Given the description of an element on the screen output the (x, y) to click on. 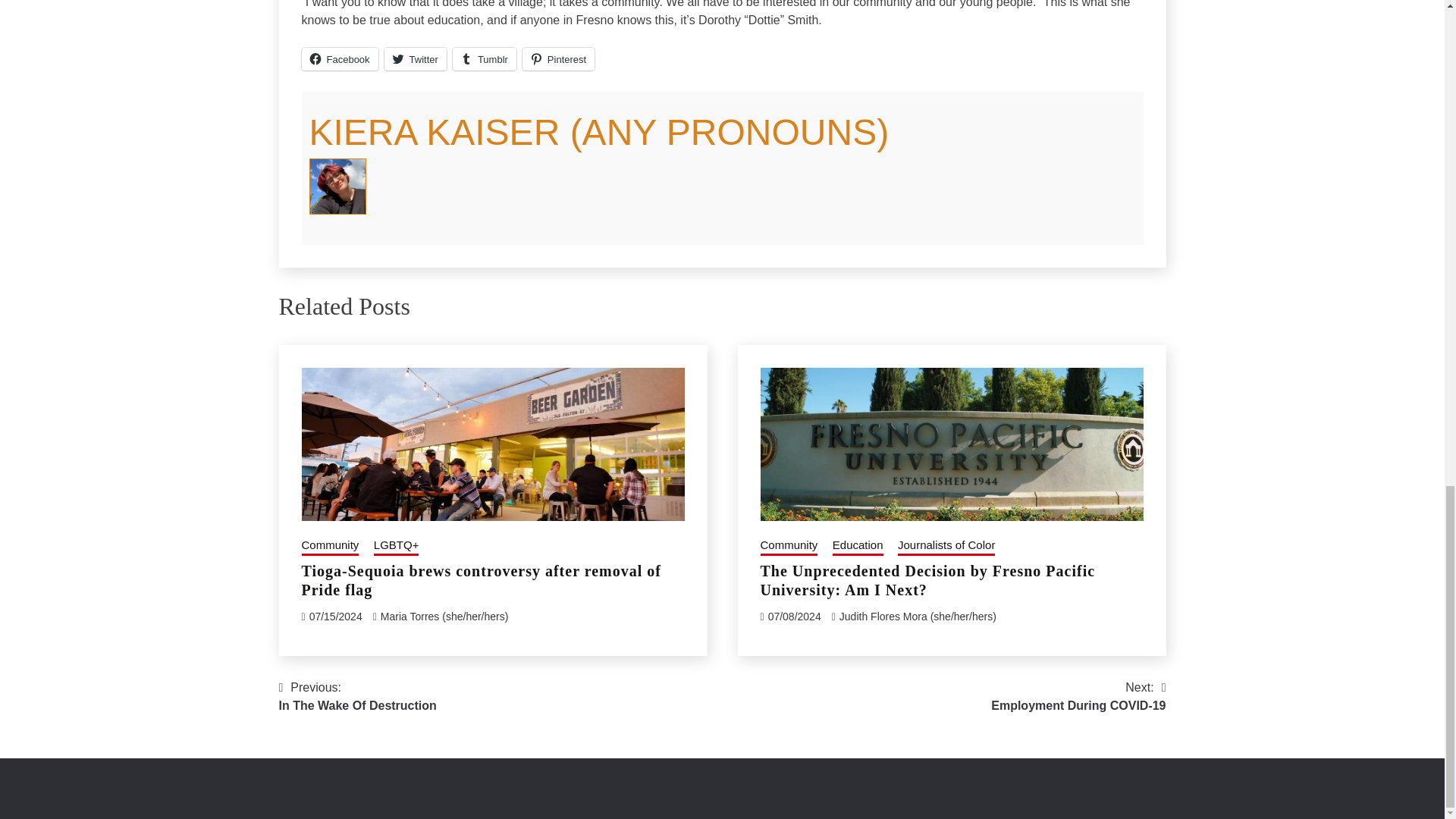
Tumblr (484, 58)
Click to share on Twitter (415, 58)
Twitter (415, 58)
Click to share on Pinterest (558, 58)
Tioga-Sequoia brews controversy after removal of Pride flag (481, 580)
Community (330, 546)
Facebook (339, 58)
Click to share on Facebook (339, 58)
Pinterest (558, 58)
Click to share on Tumblr (484, 58)
